Given the description of an element on the screen output the (x, y) to click on. 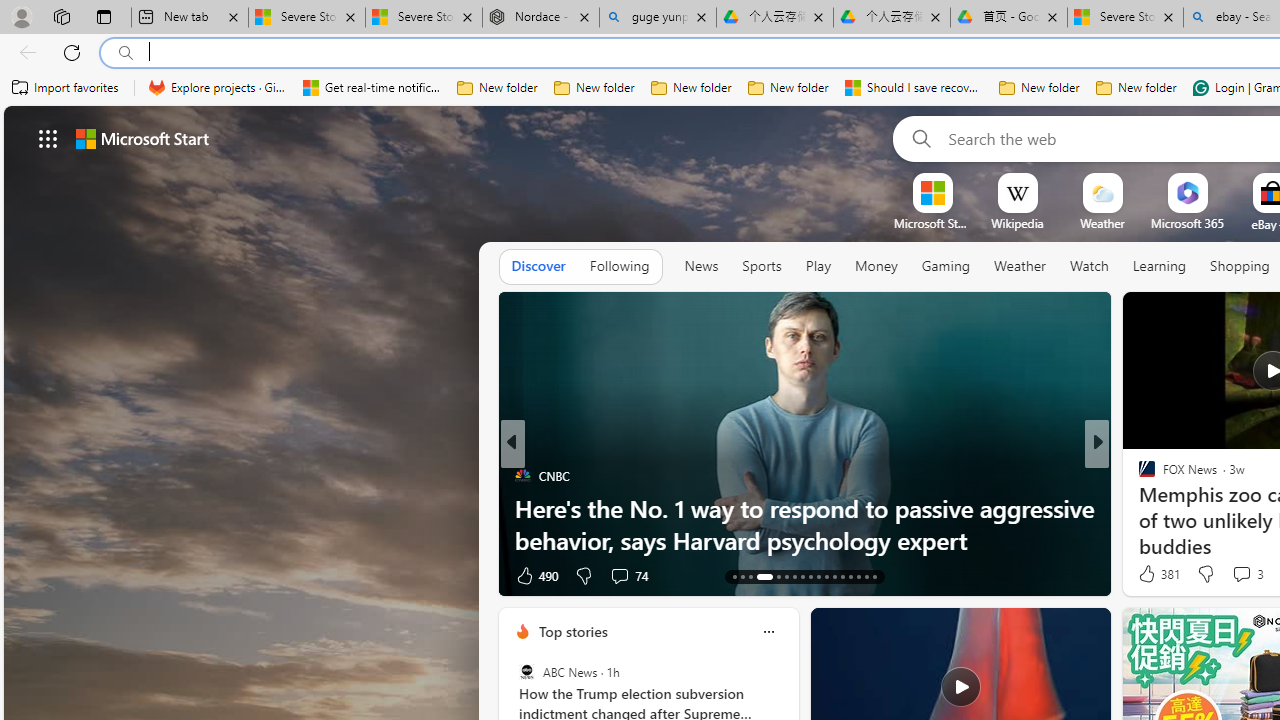
Learning (1159, 265)
Gaming (945, 267)
New folder (1136, 88)
CNBC (522, 475)
Shopping (1240, 265)
20 Like (1149, 574)
View comments 1 Comment (1229, 575)
AutomationID: tab-16 (763, 576)
AutomationID: tab-17 (778, 576)
AZ Animals (US) (1138, 507)
311 Like (1151, 574)
